Given the description of an element on the screen output the (x, y) to click on. 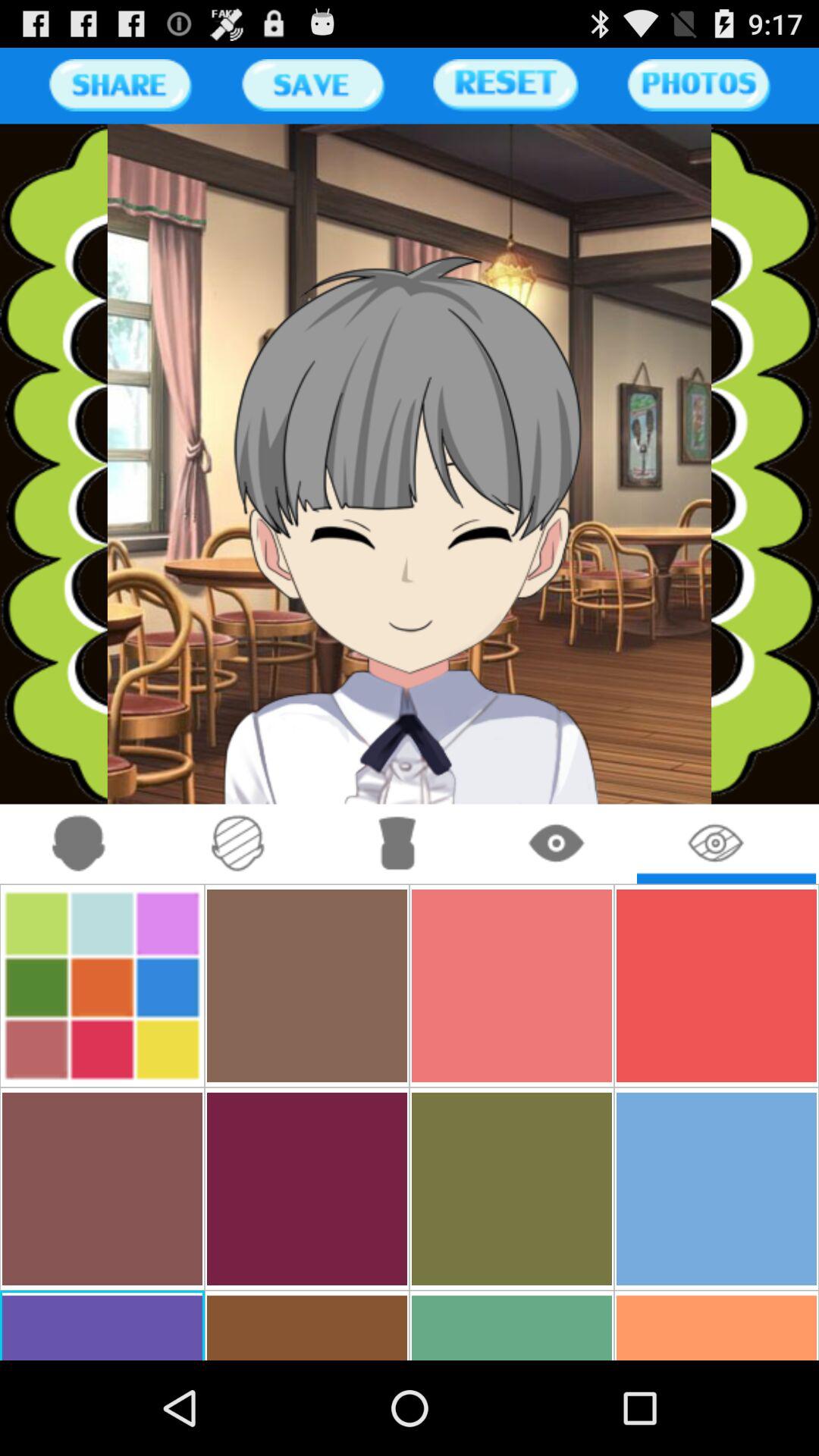
save (312, 85)
